Given the description of an element on the screen output the (x, y) to click on. 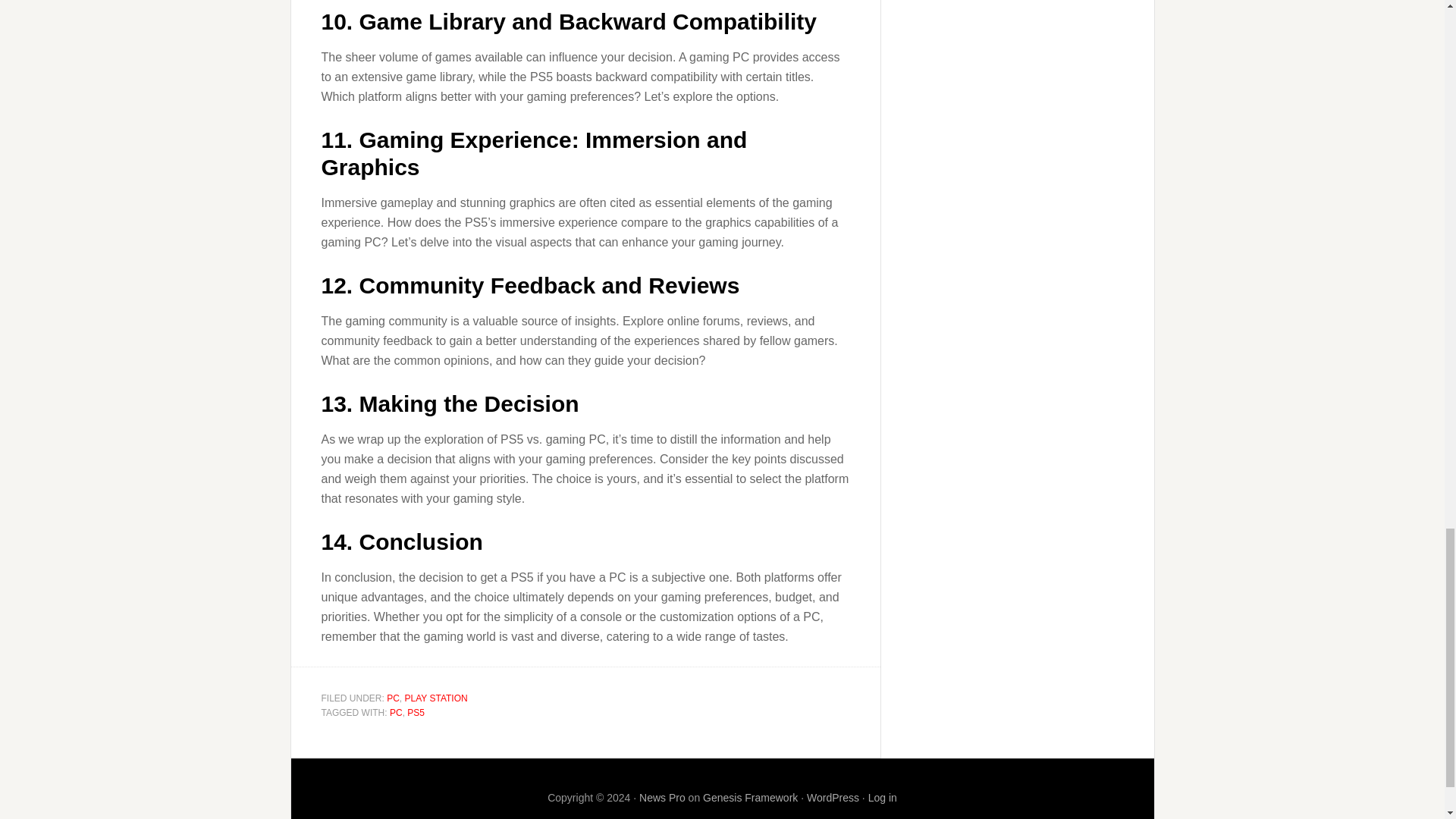
PC (396, 712)
PS5 (416, 712)
PLAY STATION (435, 697)
PC (392, 697)
